Given the description of an element on the screen output the (x, y) to click on. 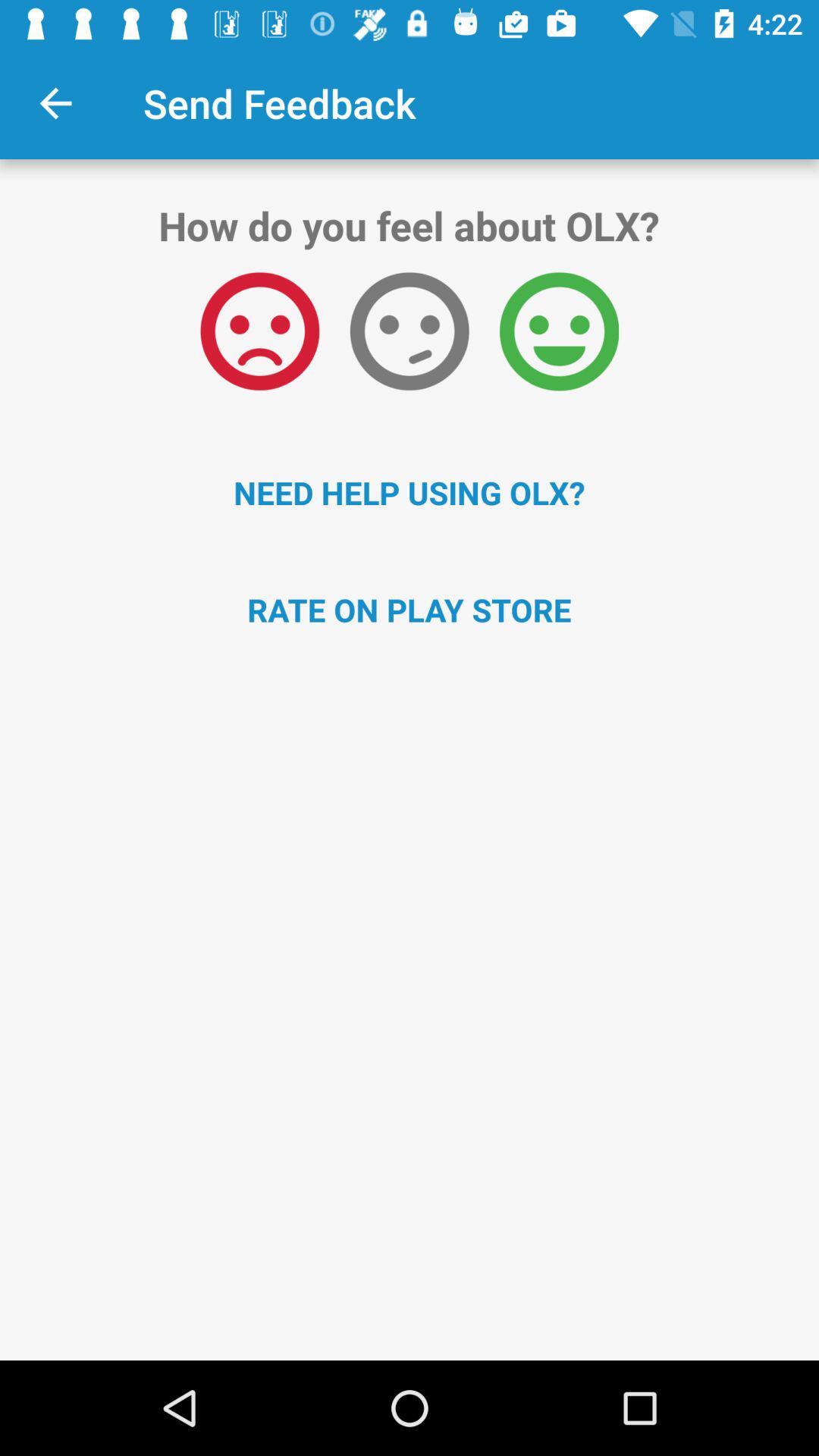
open the icon above the need help using icon (558, 331)
